Given the description of an element on the screen output the (x, y) to click on. 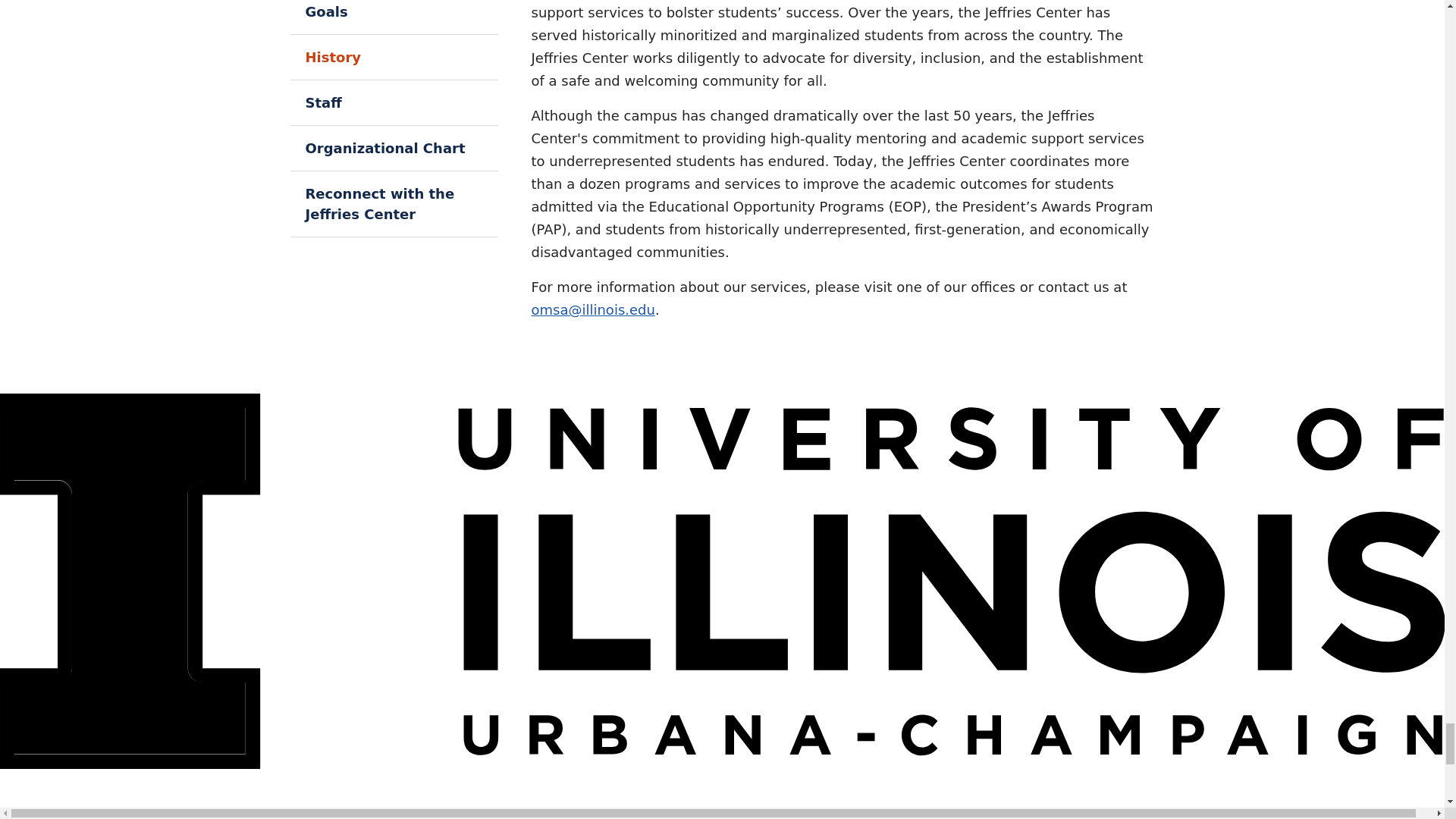
History (393, 57)
